Given the description of an element on the screen output the (x, y) to click on. 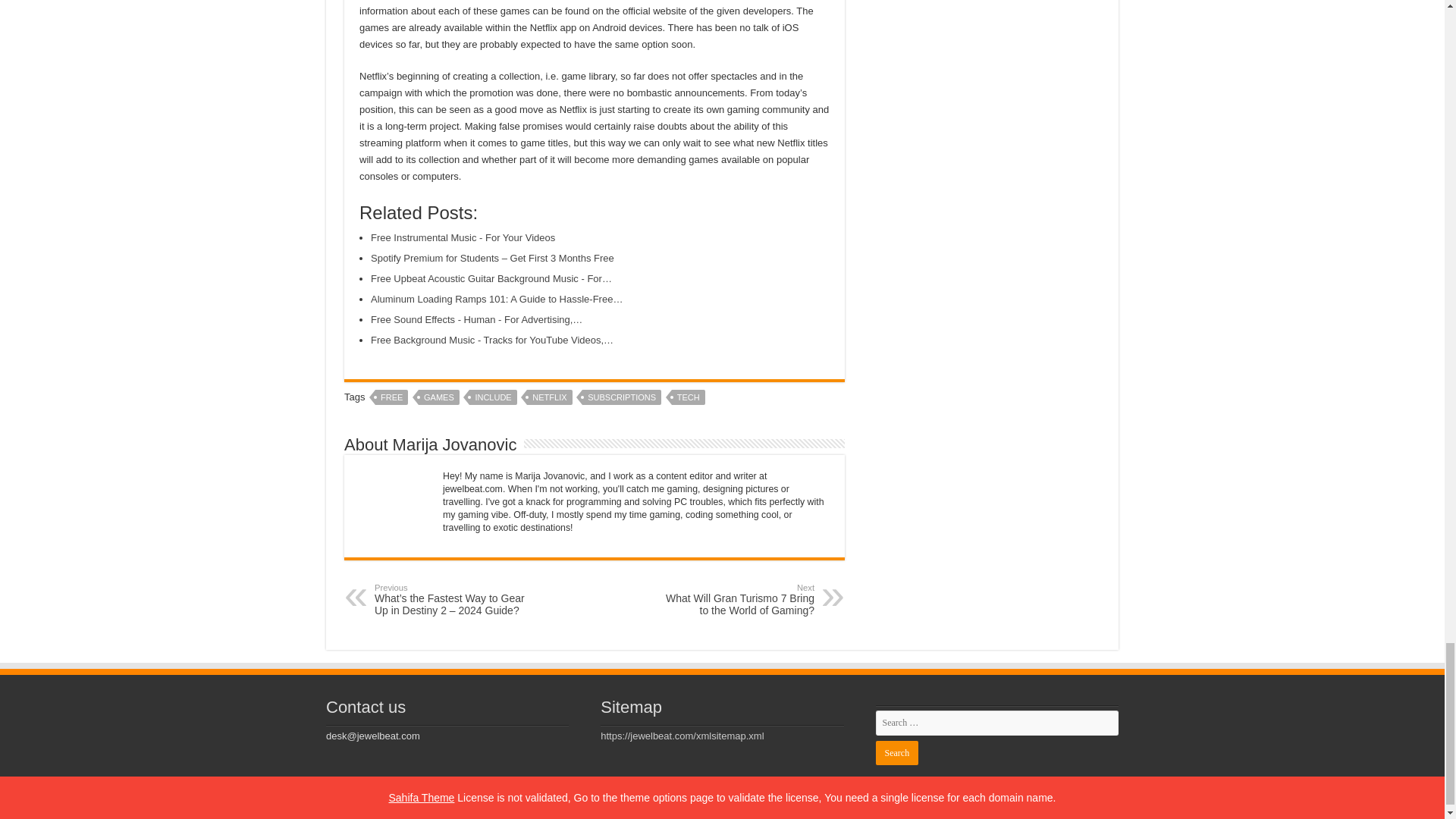
GAMES (439, 396)
TECH (687, 396)
NETFLIX (549, 396)
INCLUDE (492, 396)
SUBSCRIPTIONS (621, 396)
Search (896, 752)
FREE (736, 599)
Free Instrumental Music - For Your Videos (391, 396)
Search (462, 237)
